Given the description of an element on the screen output the (x, y) to click on. 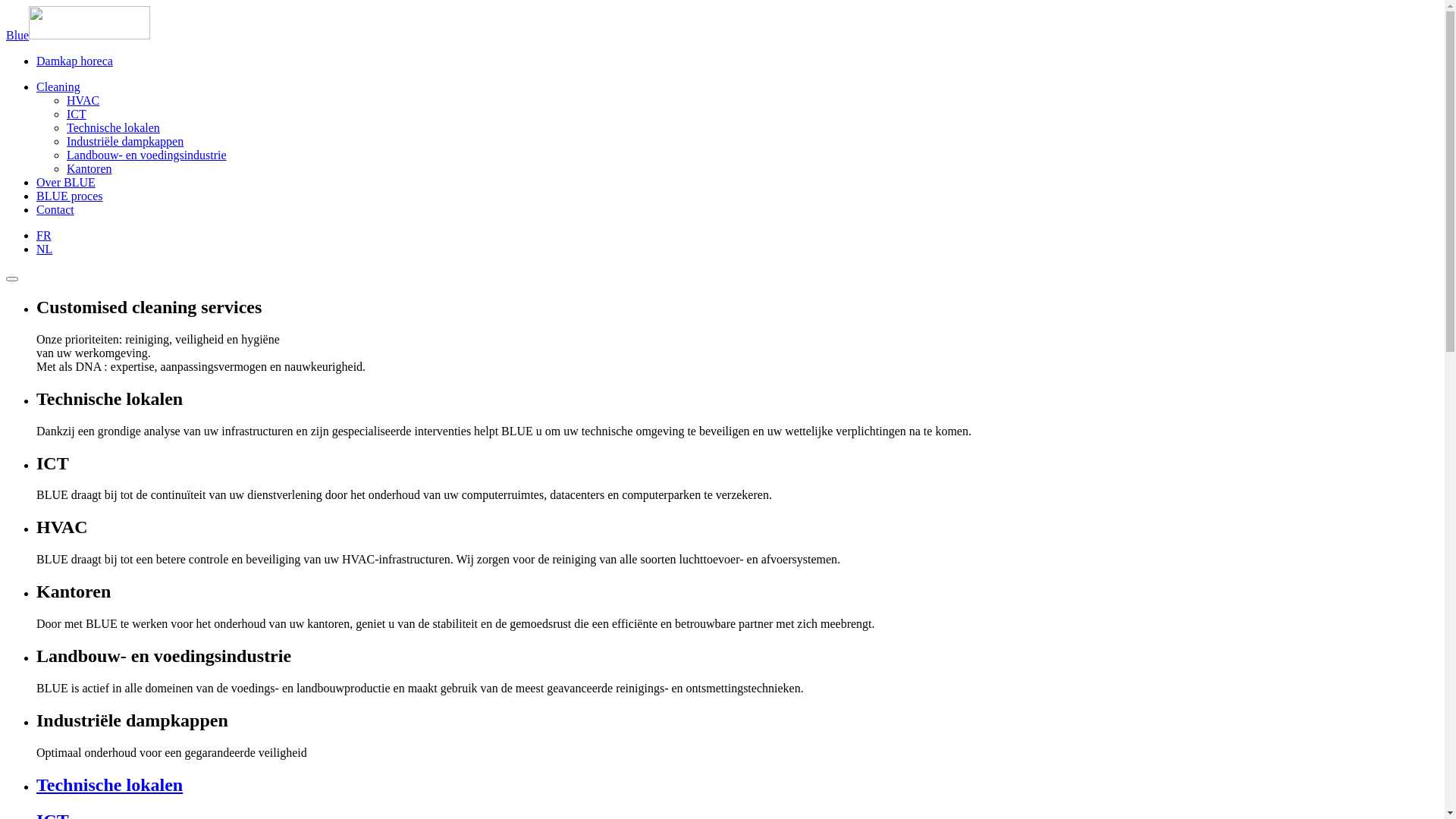
ICT Element type: text (76, 113)
BLUE proces Element type: text (69, 195)
Technische lokalen Element type: text (737, 785)
Damkap horeca Element type: text (74, 60)
Over BLUE Element type: text (65, 181)
HVAC Element type: text (82, 100)
NL Element type: text (44, 248)
Technische lokalen Element type: text (113, 127)
Landbouw- en voedingsindustrie Element type: text (146, 154)
Kantoren Element type: text (89, 168)
FR Element type: text (43, 235)
Contact Element type: text (55, 209)
Cleaning Element type: text (58, 86)
Blue Element type: text (78, 34)
